Given the description of an element on the screen output the (x, y) to click on. 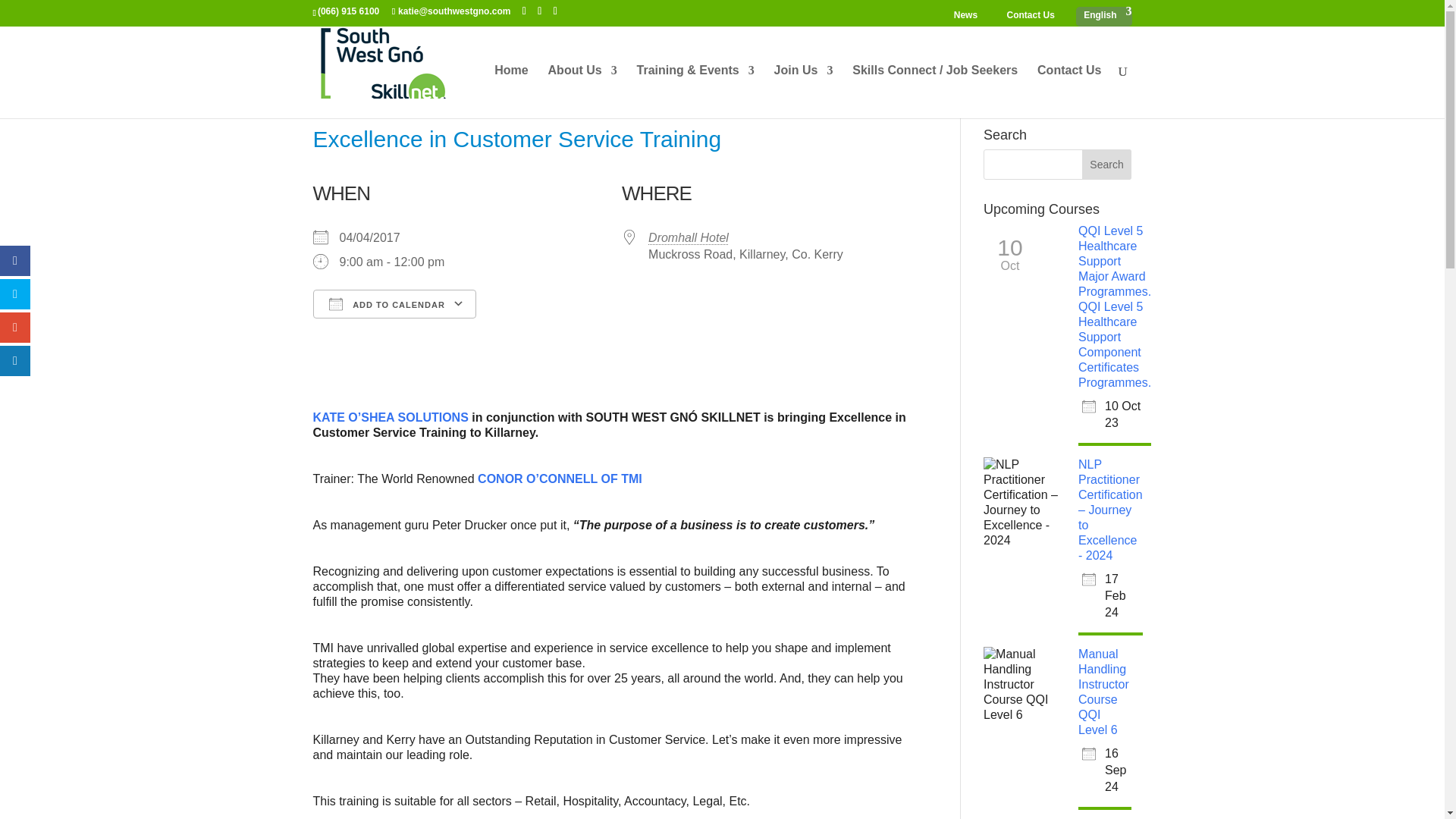
English (1103, 16)
ADD TO CALENDAR (394, 303)
Dromhall Hotel (688, 237)
Search (1106, 164)
News (965, 16)
Contact Us (1068, 91)
About Us (582, 91)
English (1103, 16)
Join Us (803, 91)
Download ICS (329, 330)
Contact Us (1029, 16)
